Given the description of an element on the screen output the (x, y) to click on. 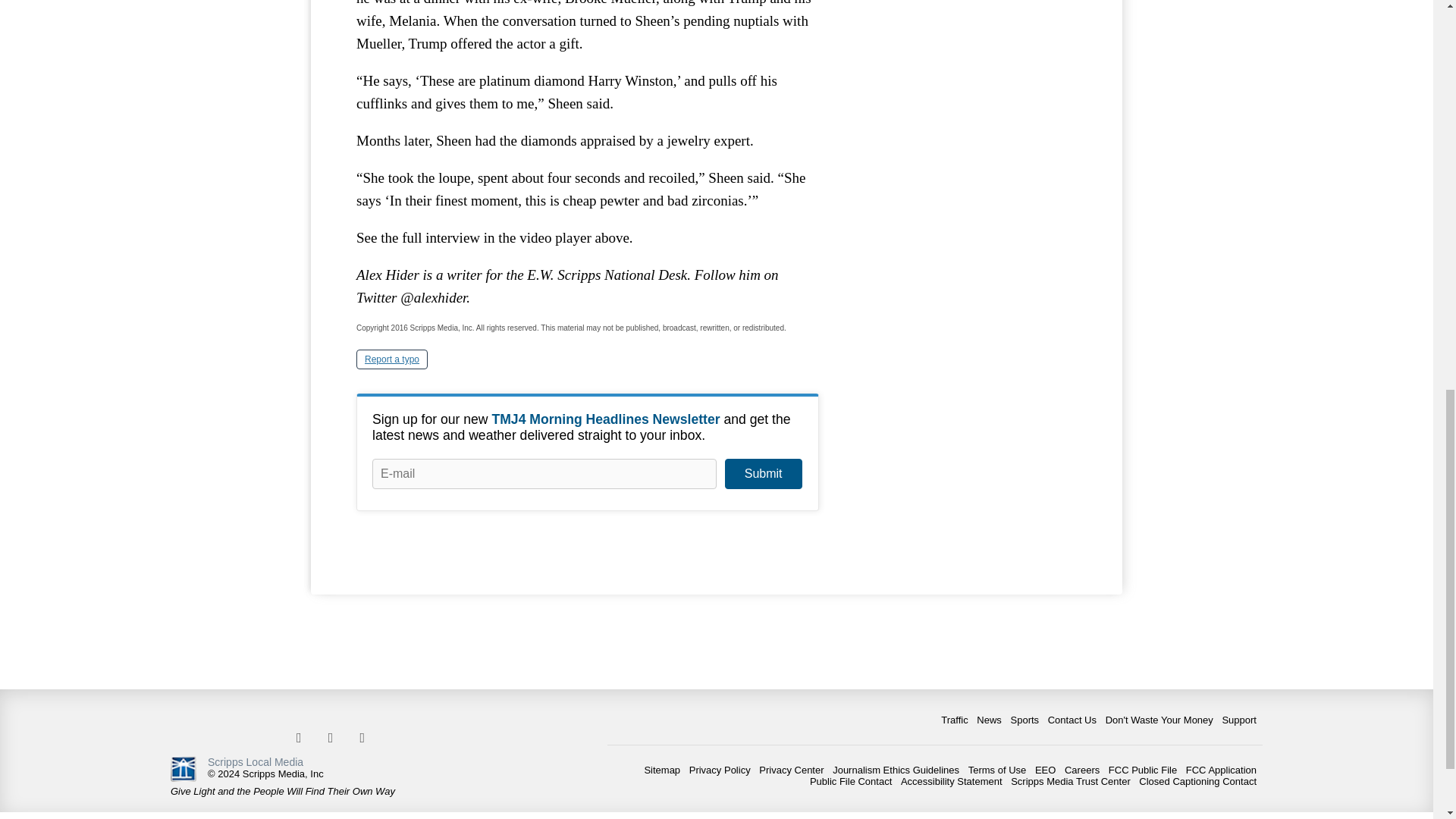
Submit (763, 473)
